Given the description of an element on the screen output the (x, y) to click on. 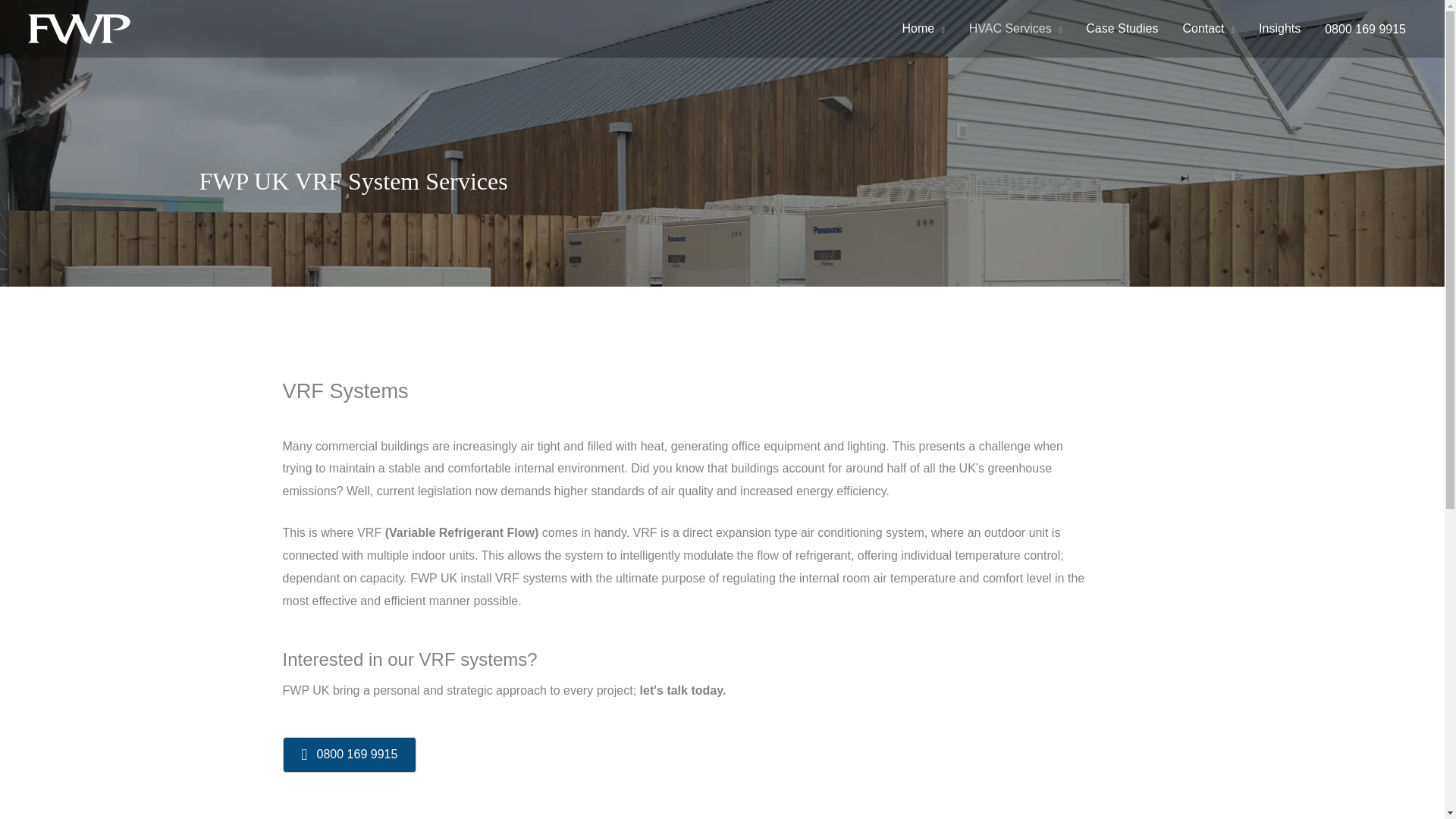
Home (922, 29)
HVAC Services (1015, 29)
